Given the description of an element on the screen output the (x, y) to click on. 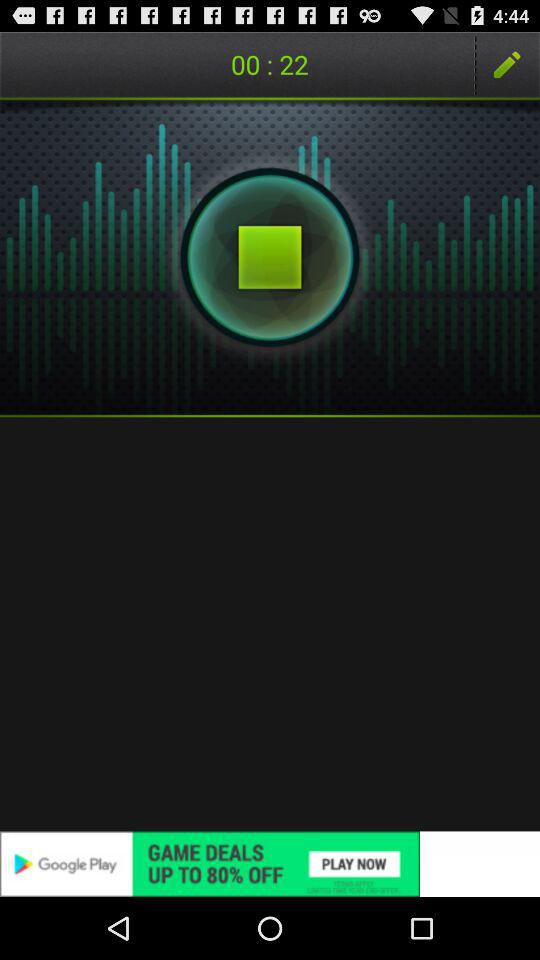
advertisement (270, 864)
